Given the description of an element on the screen output the (x, y) to click on. 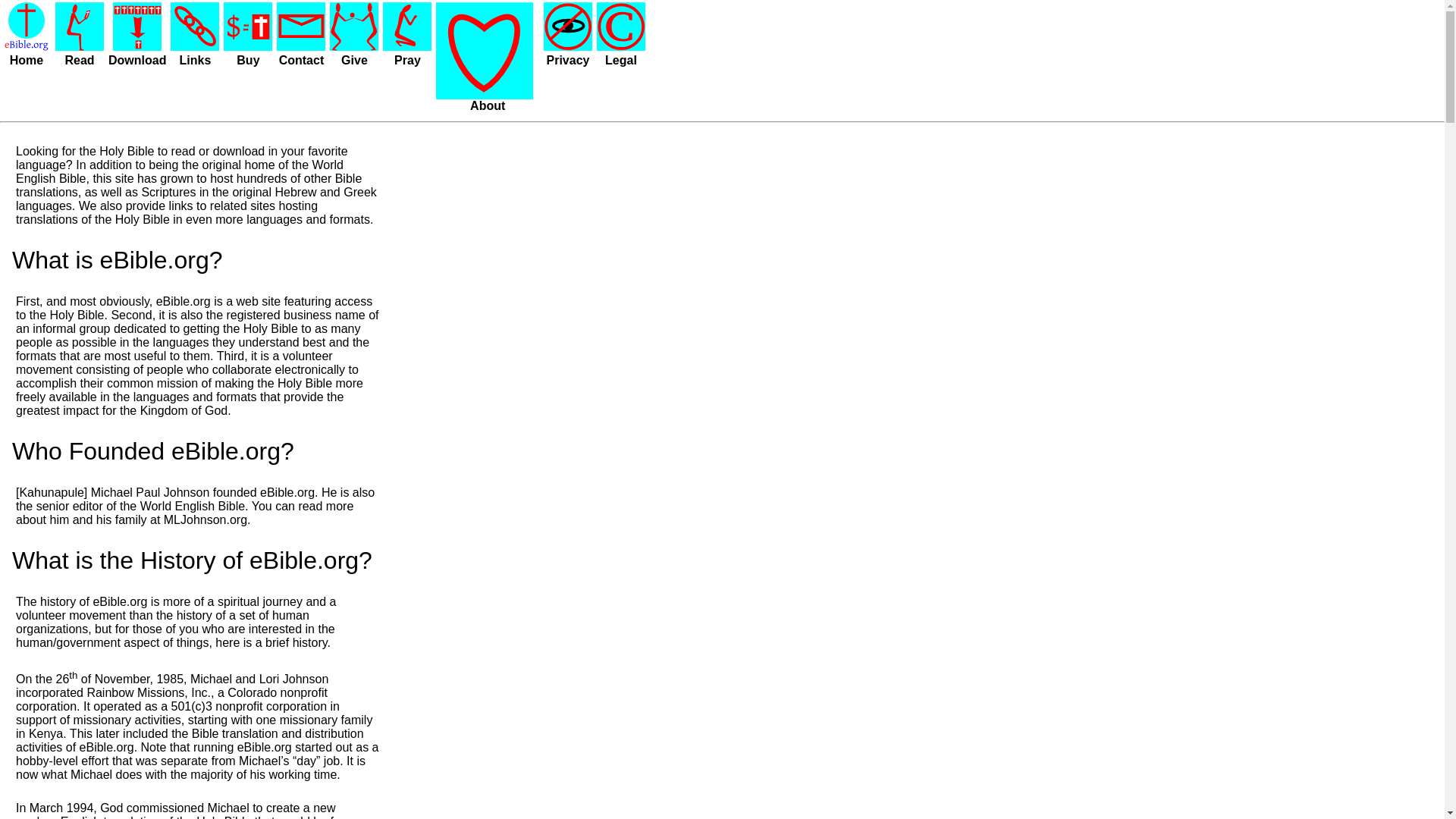
World English Bible (191, 505)
Holy Bible to read (147, 151)
MLJohnson.org (205, 519)
Contact (301, 60)
Privacy (568, 60)
download (238, 151)
World English Bible (179, 171)
Links (195, 60)
Buy (247, 60)
Pray (407, 60)
eBible.org (183, 300)
Legal (621, 60)
Home (26, 60)
